Given the description of an element on the screen output the (x, y) to click on. 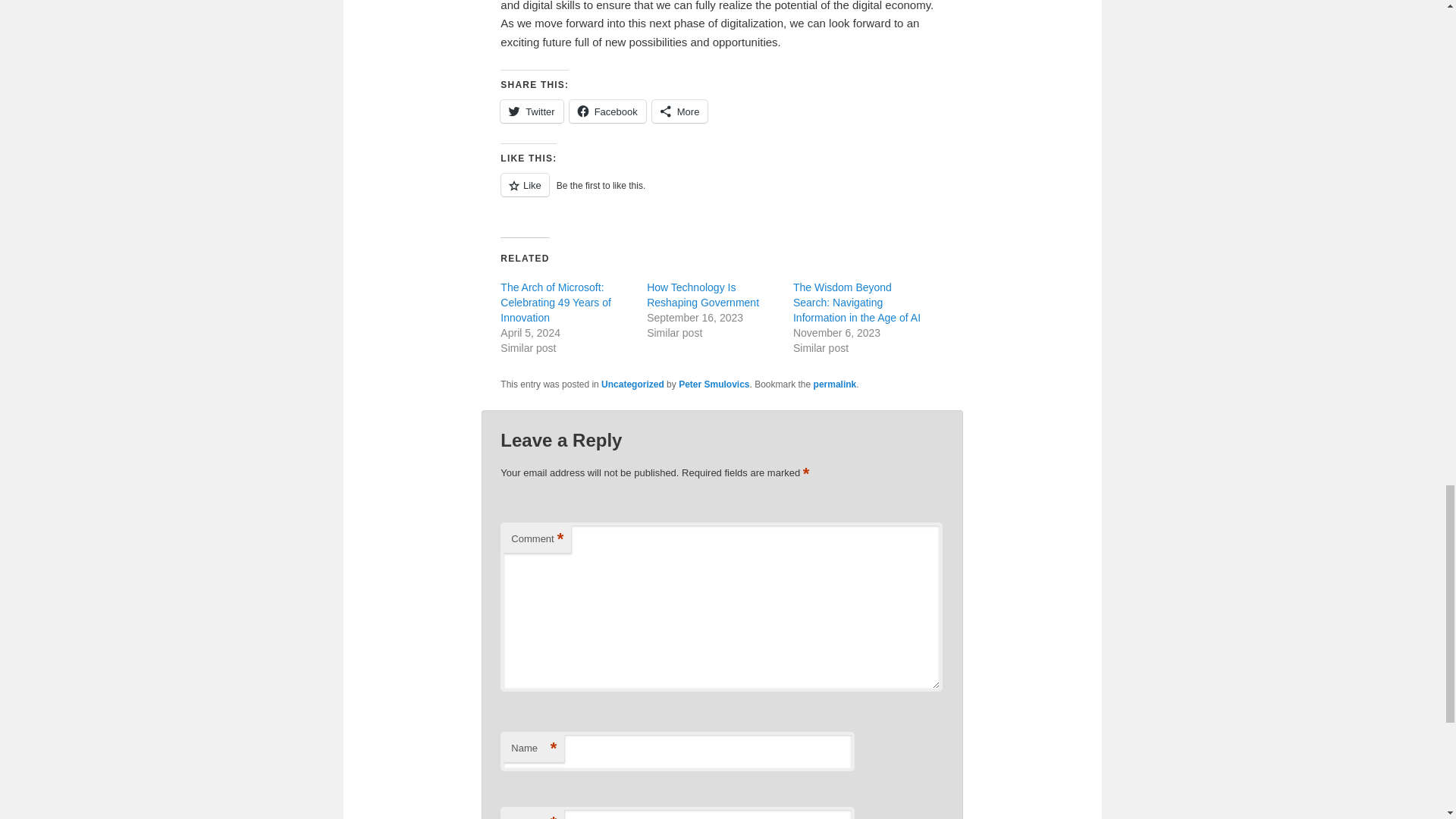
Like or Reblog (721, 193)
How Technology Is Reshaping Government (702, 294)
How Technology Is Reshaping Government (702, 294)
Click to share on Facebook (607, 110)
Facebook (607, 110)
Twitter (531, 110)
permalink (835, 384)
More (679, 110)
The Arch of Microsoft: Celebrating 49 Years of Innovation (555, 302)
